Given the description of an element on the screen output the (x, y) to click on. 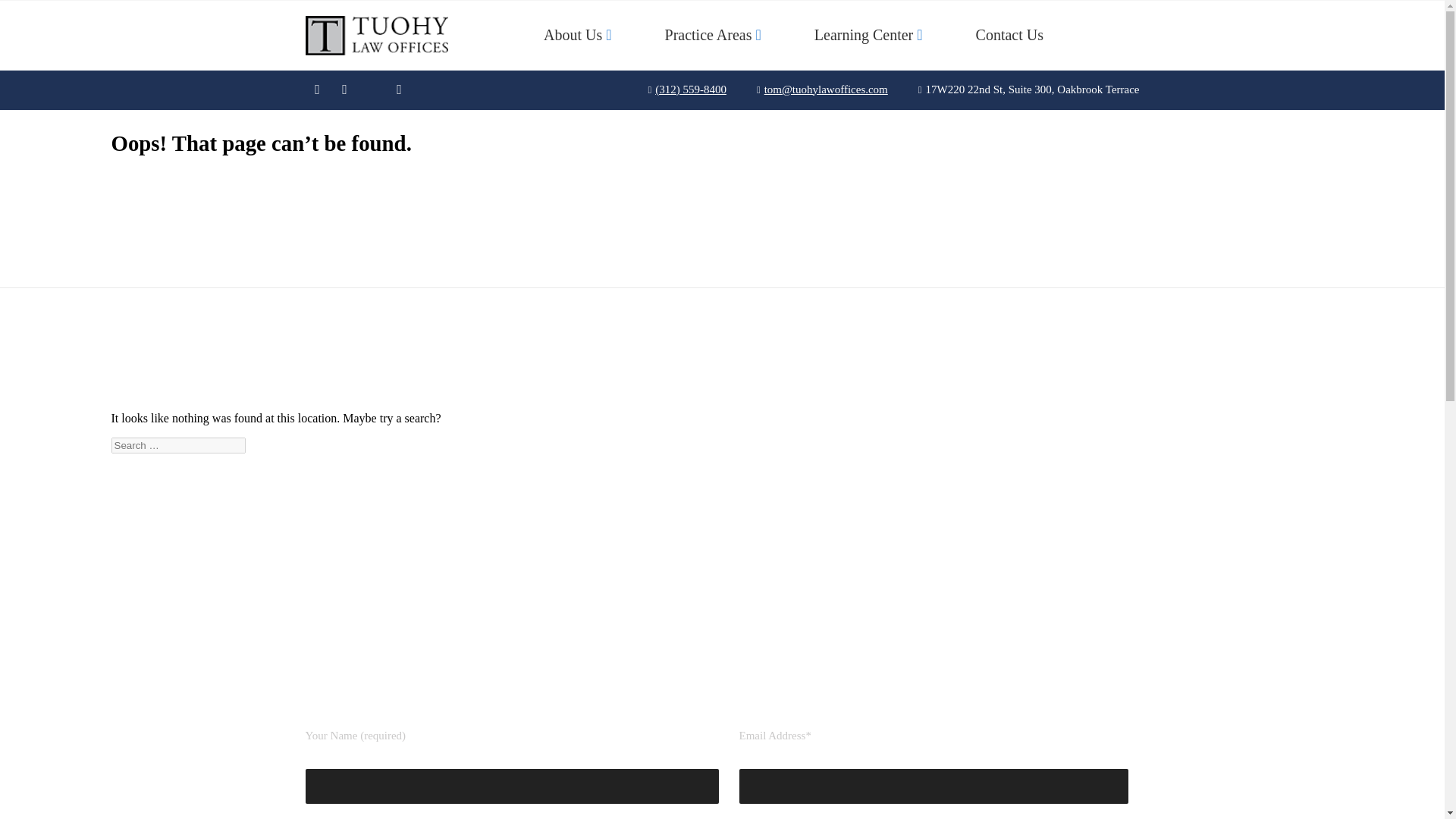
About Us (572, 34)
GitHub (398, 88)
Learning Center (863, 34)
Practice Areas (708, 34)
Contact Us (1009, 34)
Twitter (371, 88)
Facebook (316, 88)
LinkedIn (343, 88)
